Given the description of an element on the screen output the (x, y) to click on. 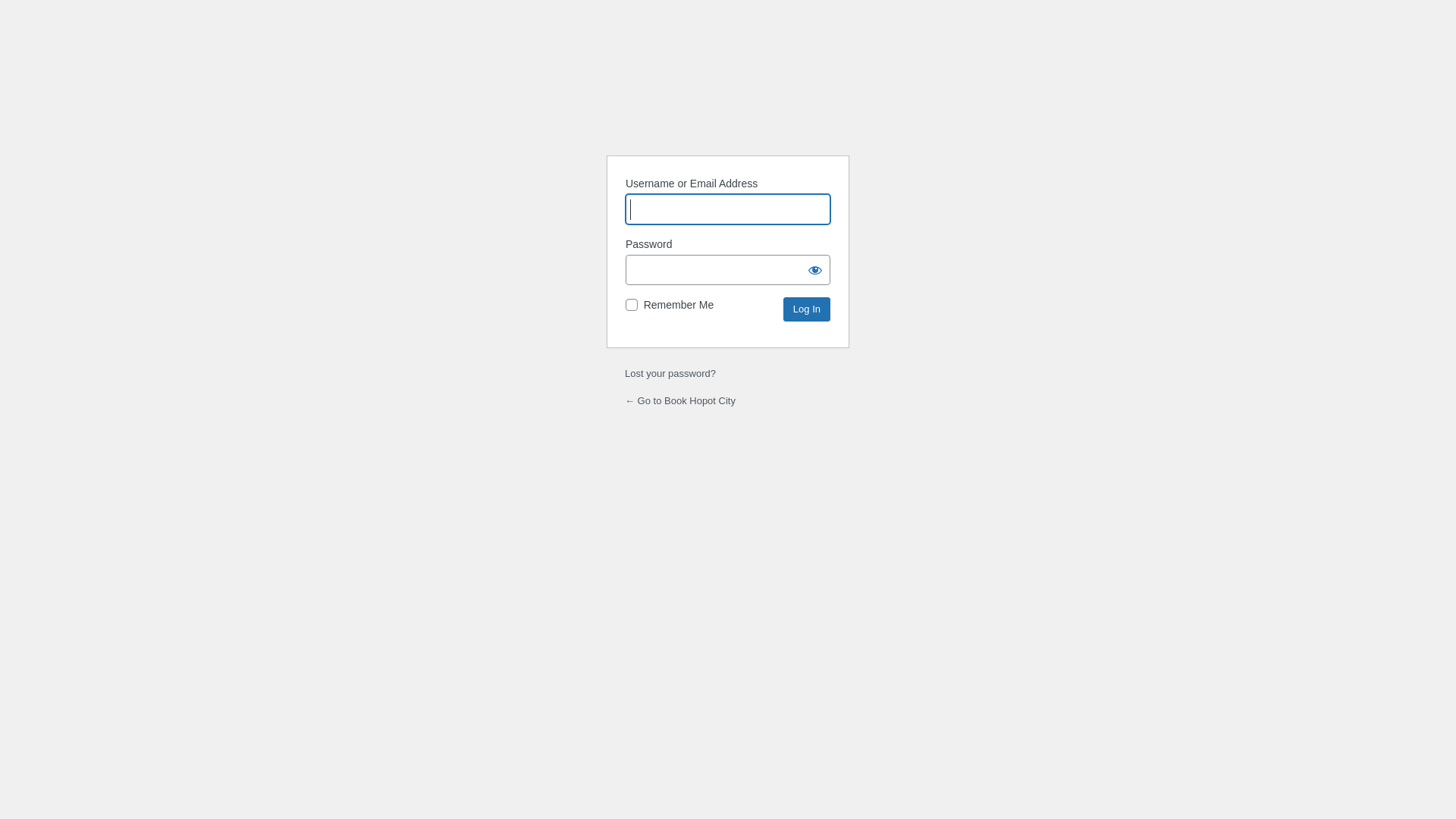
Log In Element type: text (806, 309)
Powered by WordPress Element type: text (727, 104)
Lost your password? Element type: text (669, 373)
